Given the description of an element on the screen output the (x, y) to click on. 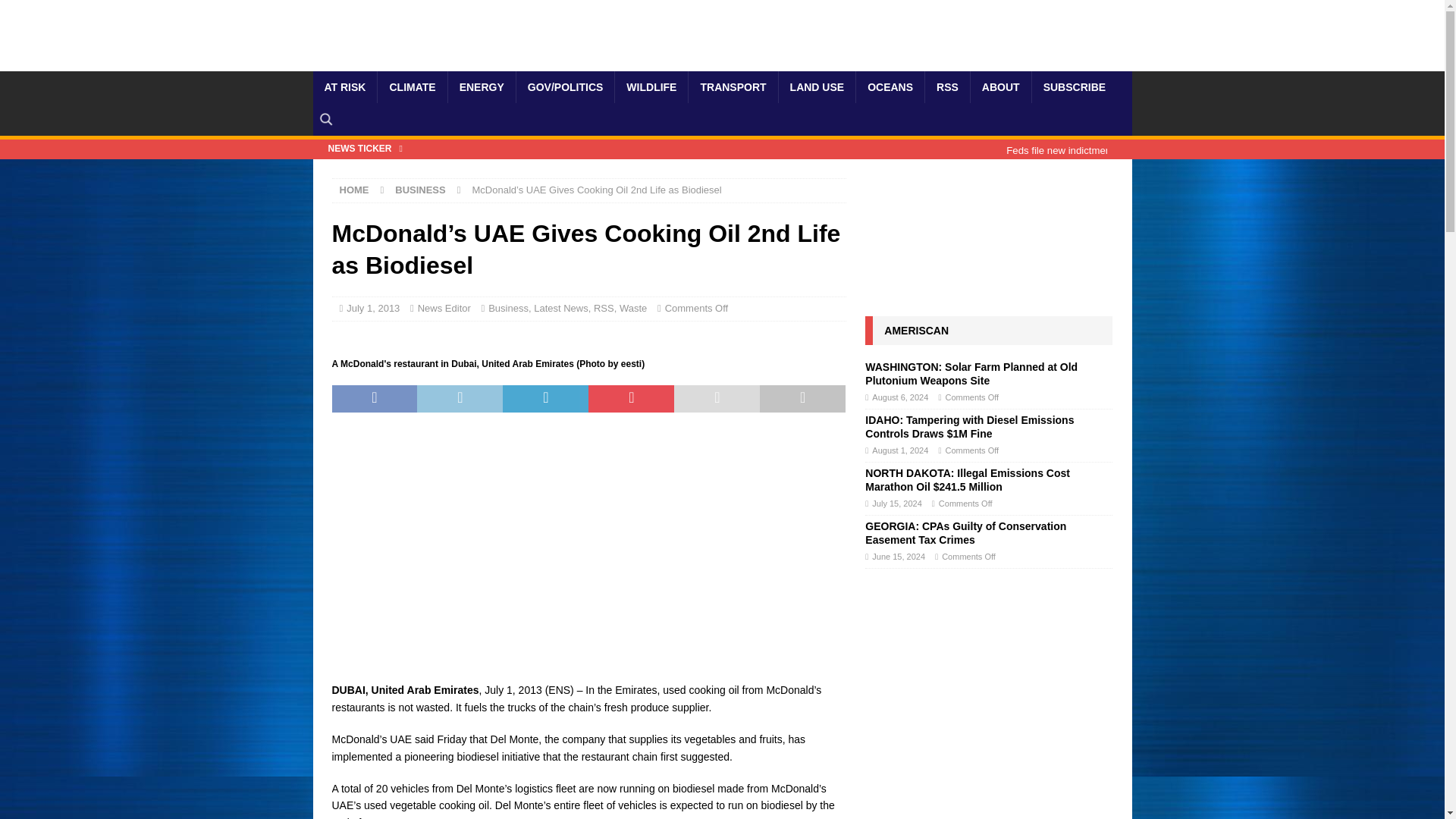
GEORGIA: CPAs Guilty of Conservation Easement Tax Crimes (964, 533)
HOME (354, 189)
Search (56, 11)
OCEANS (890, 87)
RSS (946, 87)
CLIMATE (411, 87)
BUSINESS (419, 189)
ENERGY (480, 87)
WILDLIFE (650, 87)
TRANSPORT (732, 87)
